Given the description of an element on the screen output the (x, y) to click on. 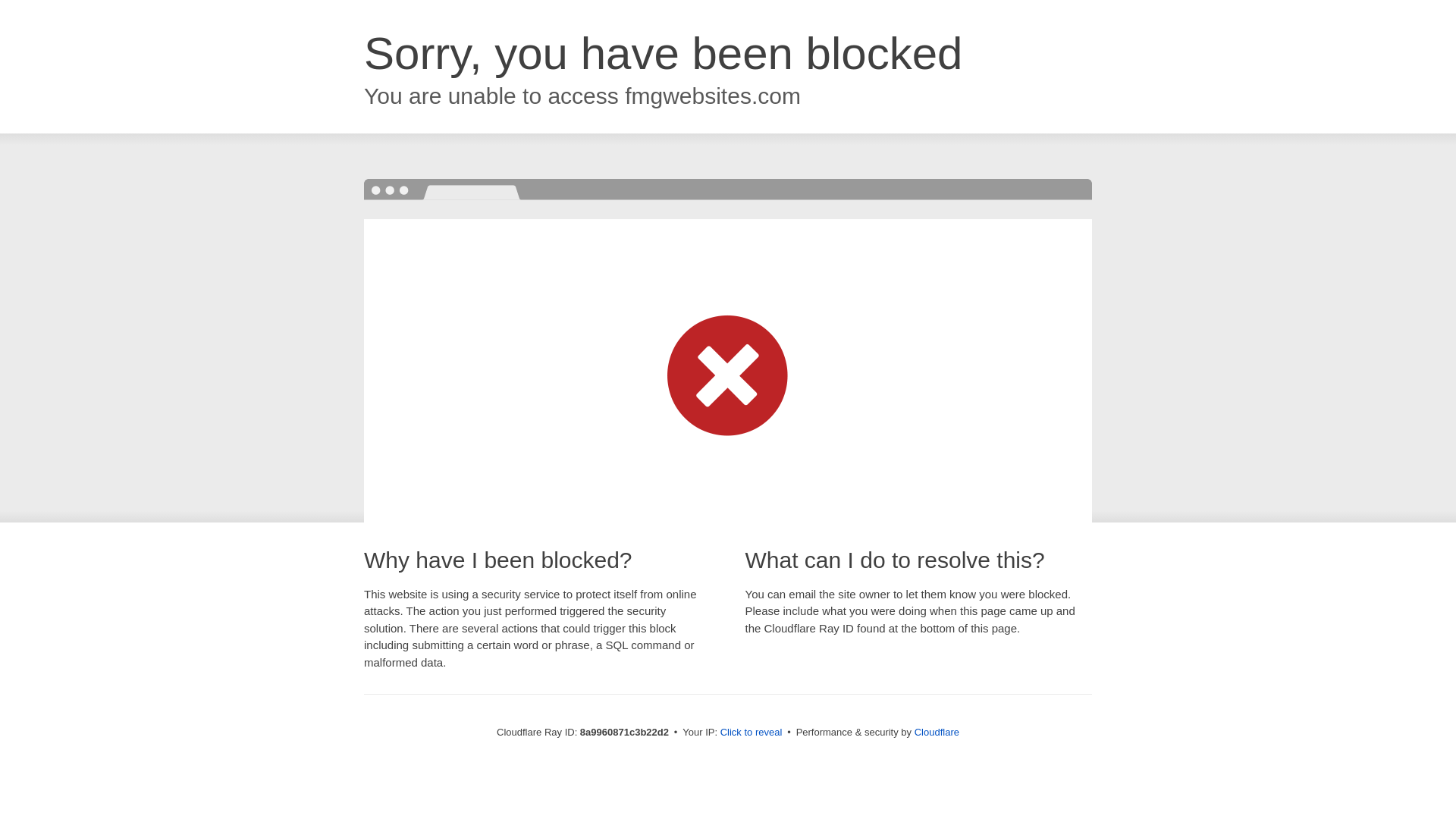
Cloudflare (936, 731)
Click to reveal (751, 732)
